Given the description of an element on the screen output the (x, y) to click on. 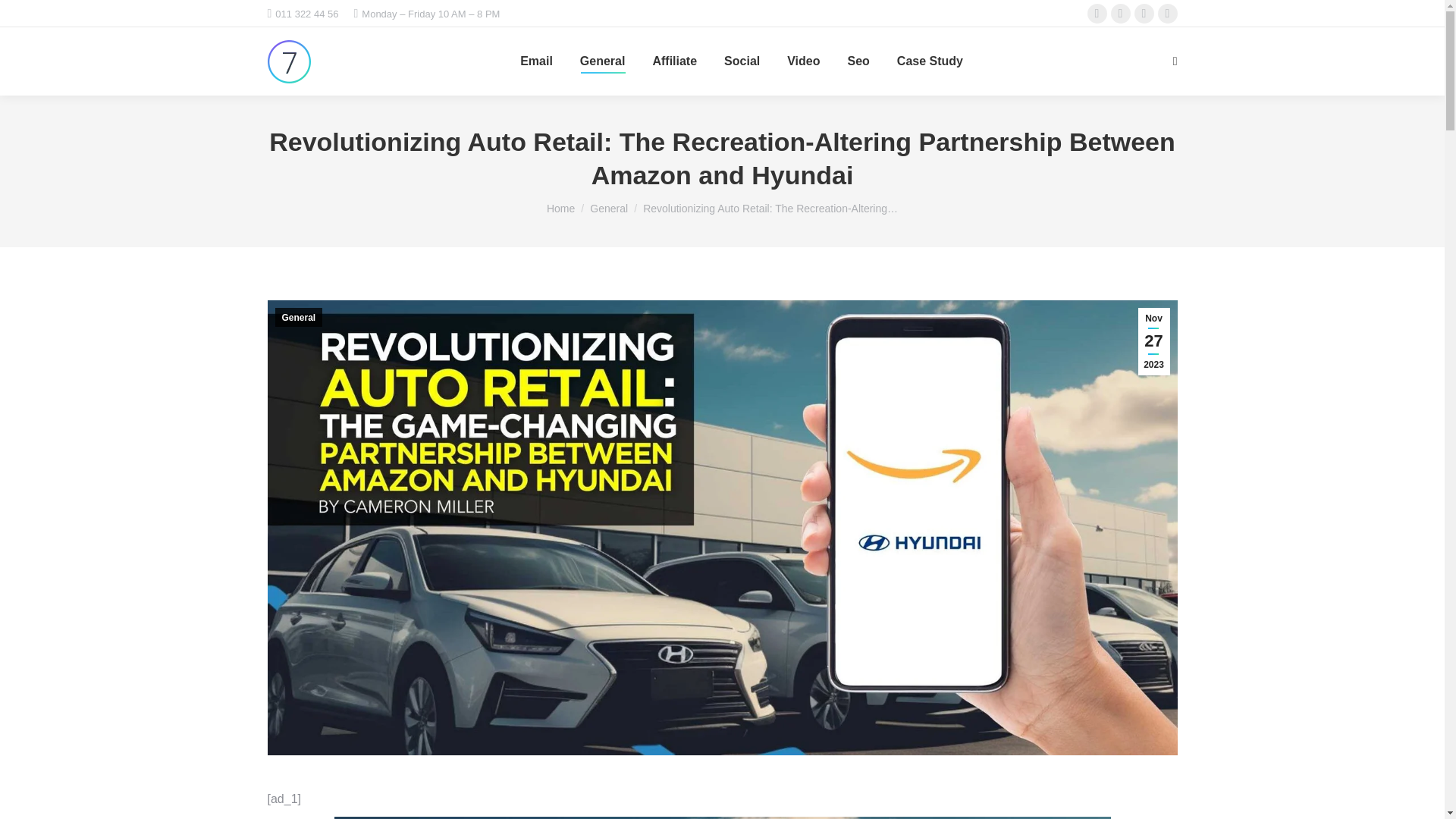
Video (803, 60)
General (602, 60)
Case Study (929, 60)
Email (536, 60)
Social (741, 60)
Twitter page opens in new window (1120, 13)
YouTube page opens in new window (1167, 13)
Instagram page opens in new window (1144, 13)
Twitter page opens in new window (1120, 13)
YouTube page opens in new window (1167, 13)
